Given the description of an element on the screen output the (x, y) to click on. 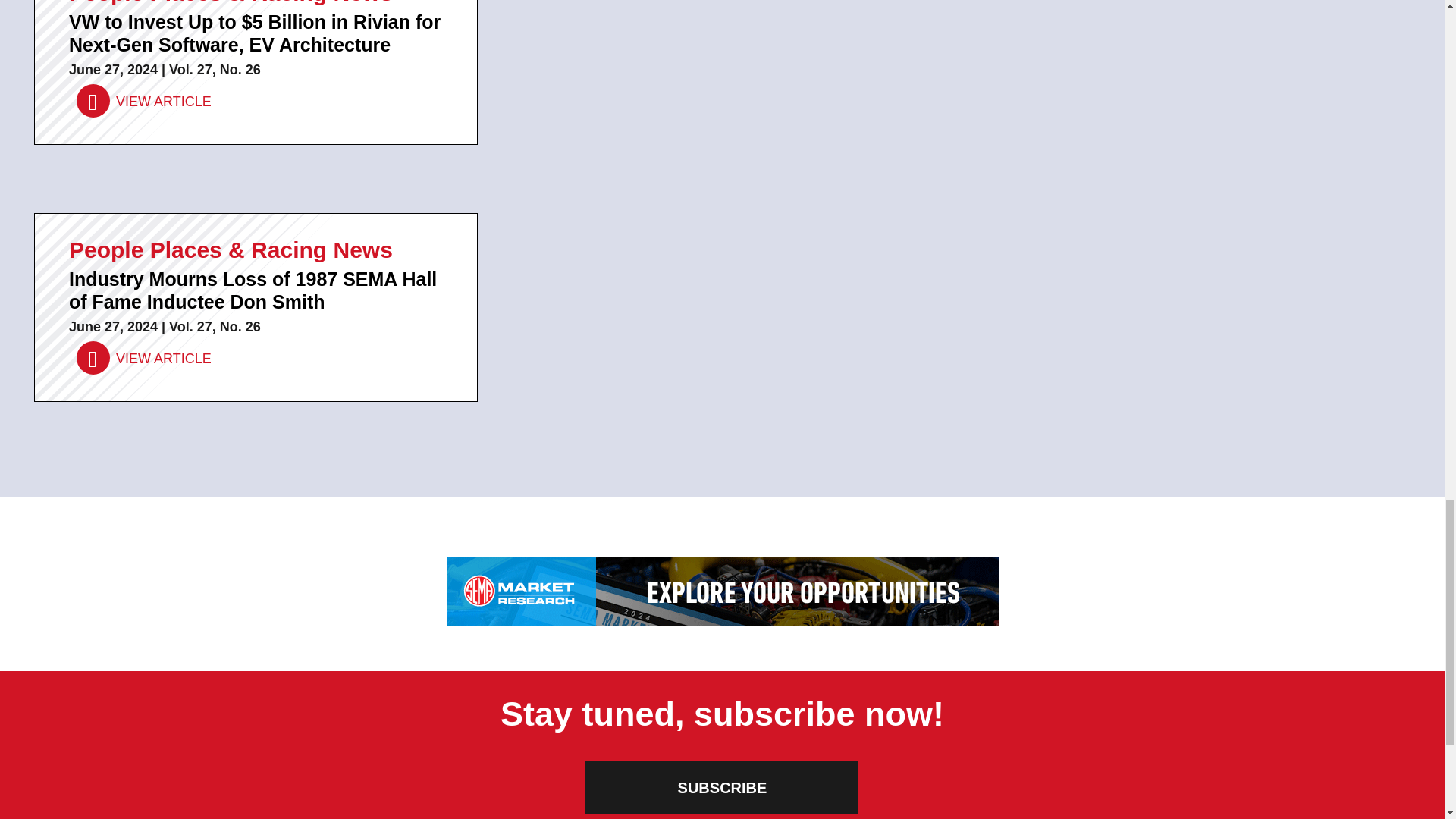
SEMA MR Market Reports 2024 (721, 591)
VIEW ARTICLE (143, 101)
SUBSCRIBE (722, 787)
VIEW ARTICLE (143, 358)
